Given the description of an element on the screen output the (x, y) to click on. 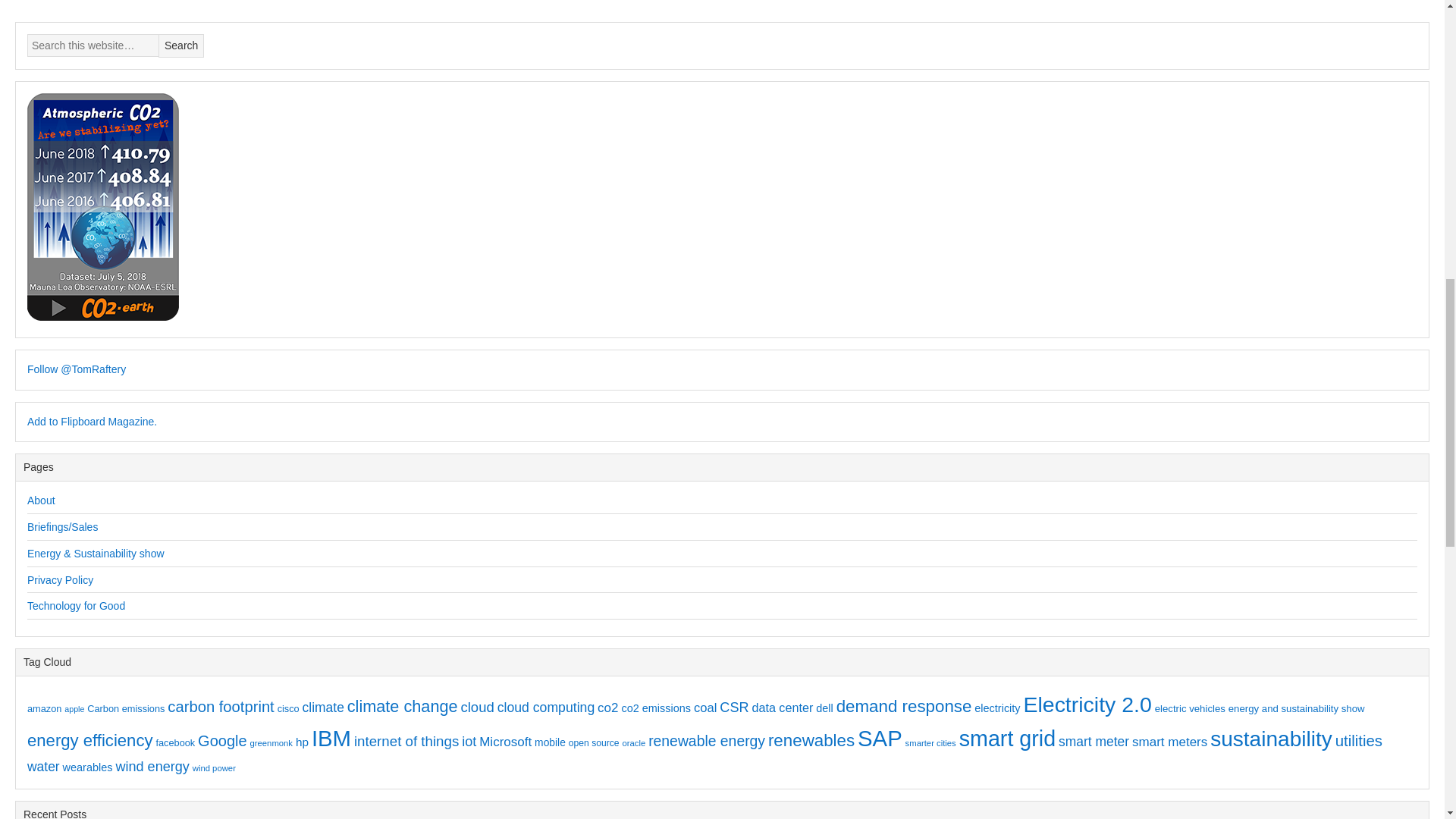
Search (180, 45)
